Given the description of an element on the screen output the (x, y) to click on. 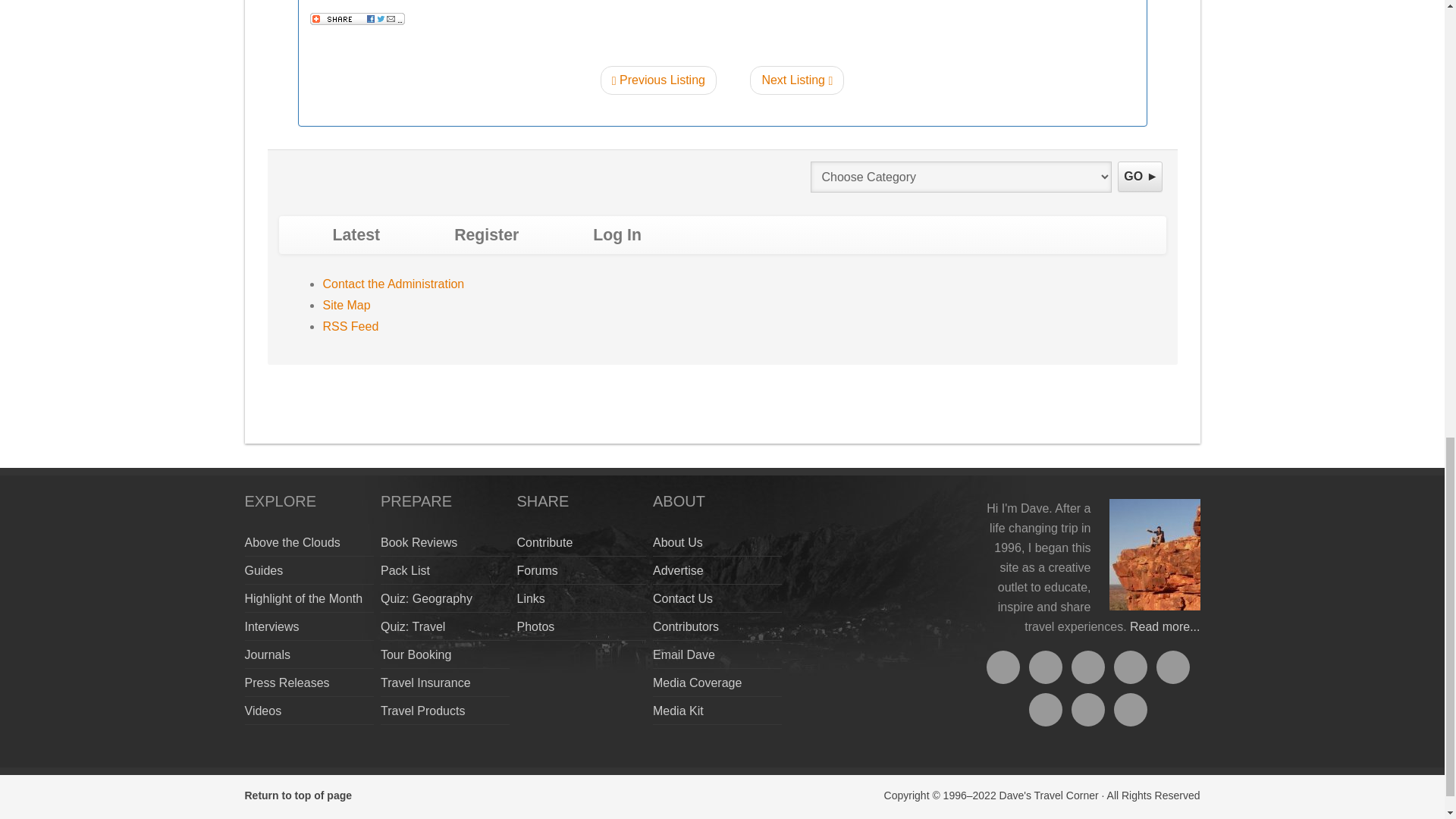
Latest (356, 234)
Next Listing (796, 80)
Previous Listing (657, 80)
Register (485, 234)
